Given the description of an element on the screen output the (x, y) to click on. 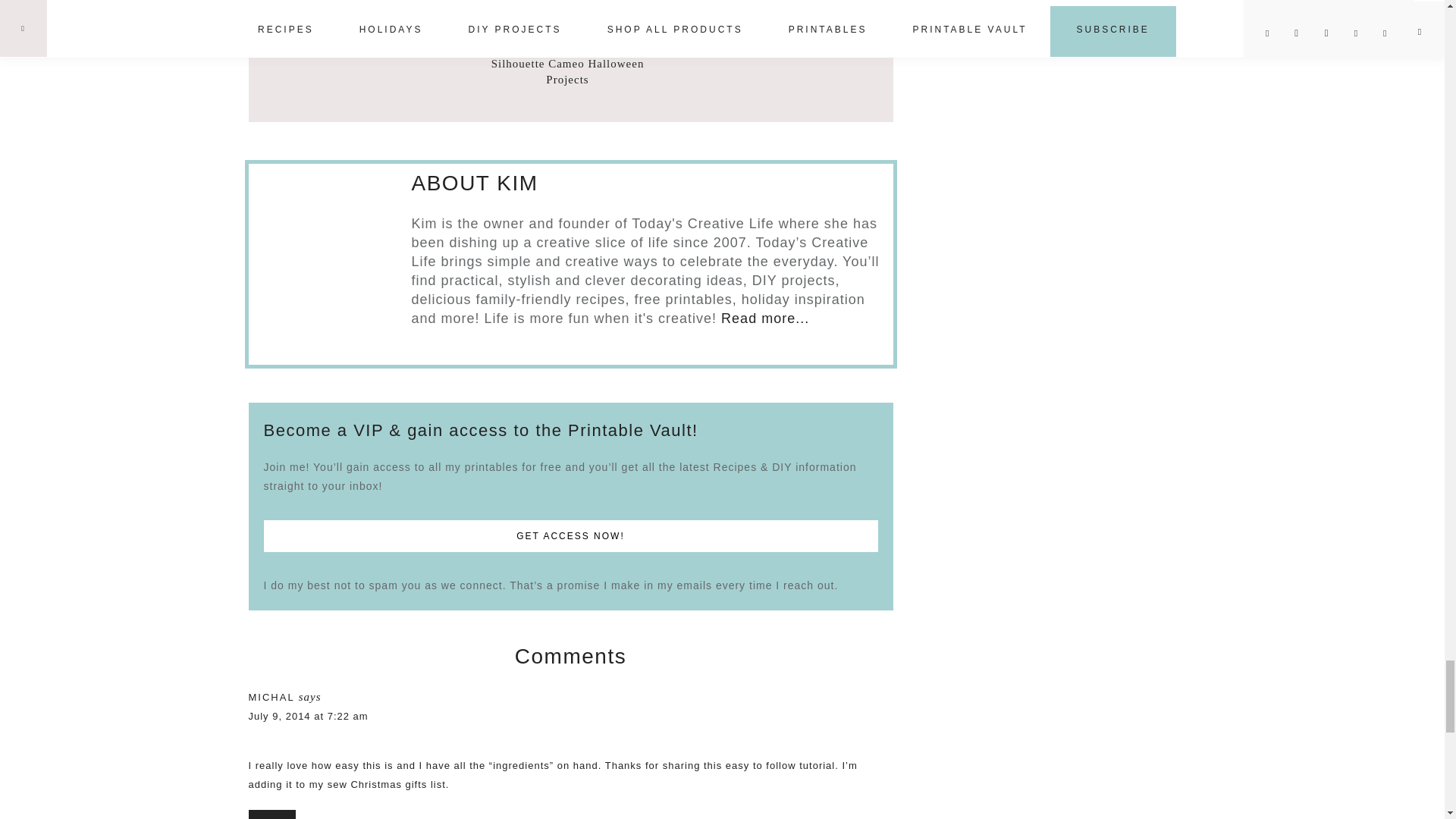
Permanent Link to DIY Designer Letters (765, 4)
Permanent Link to Silhouette Cameo Halloween Projects (567, 38)
Permanent Link to DIY Designer Letters (764, 26)
Permanent Link to How To Make a Tire Swing Tutorial (370, 19)
Permanent Link to Silhouette Cameo Halloween Projects (566, 71)
